Given the description of an element on the screen output the (x, y) to click on. 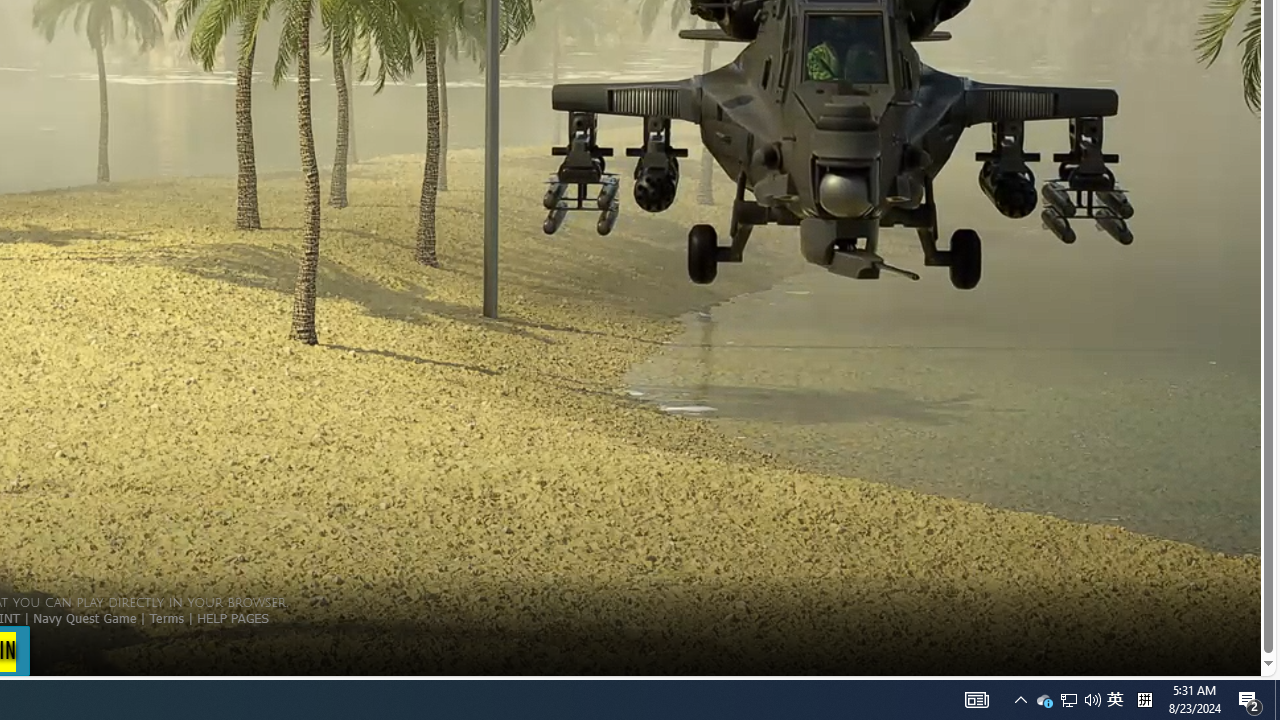
HELP PAGES (232, 617)
Navy Quest Game (84, 617)
Terms (166, 617)
